Given the description of an element on the screen output the (x, y) to click on. 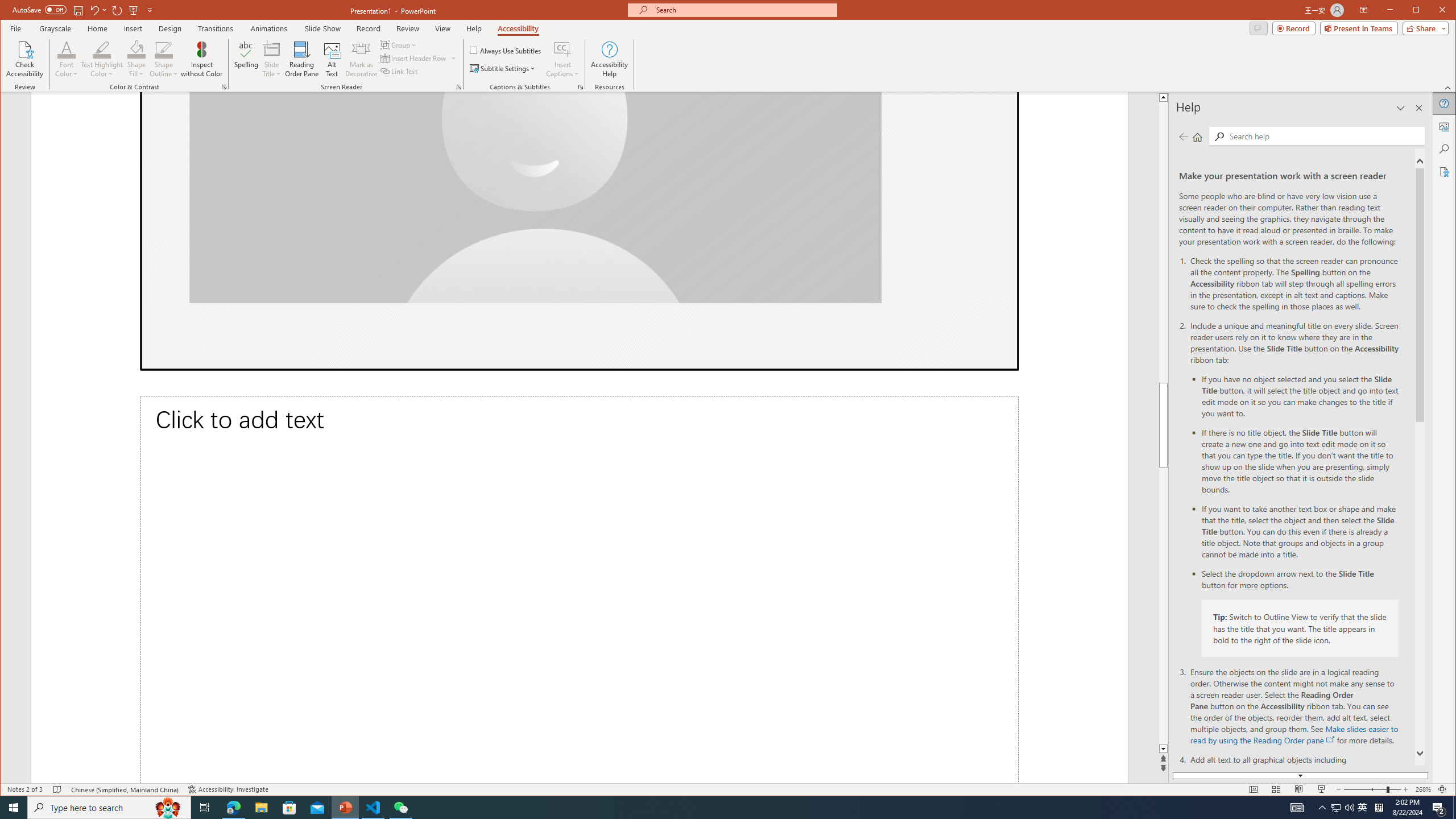
Captions & Subtitles (580, 86)
Inspect without Color (201, 59)
WeChat - 1 running window (400, 807)
Link Text (399, 70)
Always Use Subtitles (505, 49)
